Given the description of an element on the screen output the (x, y) to click on. 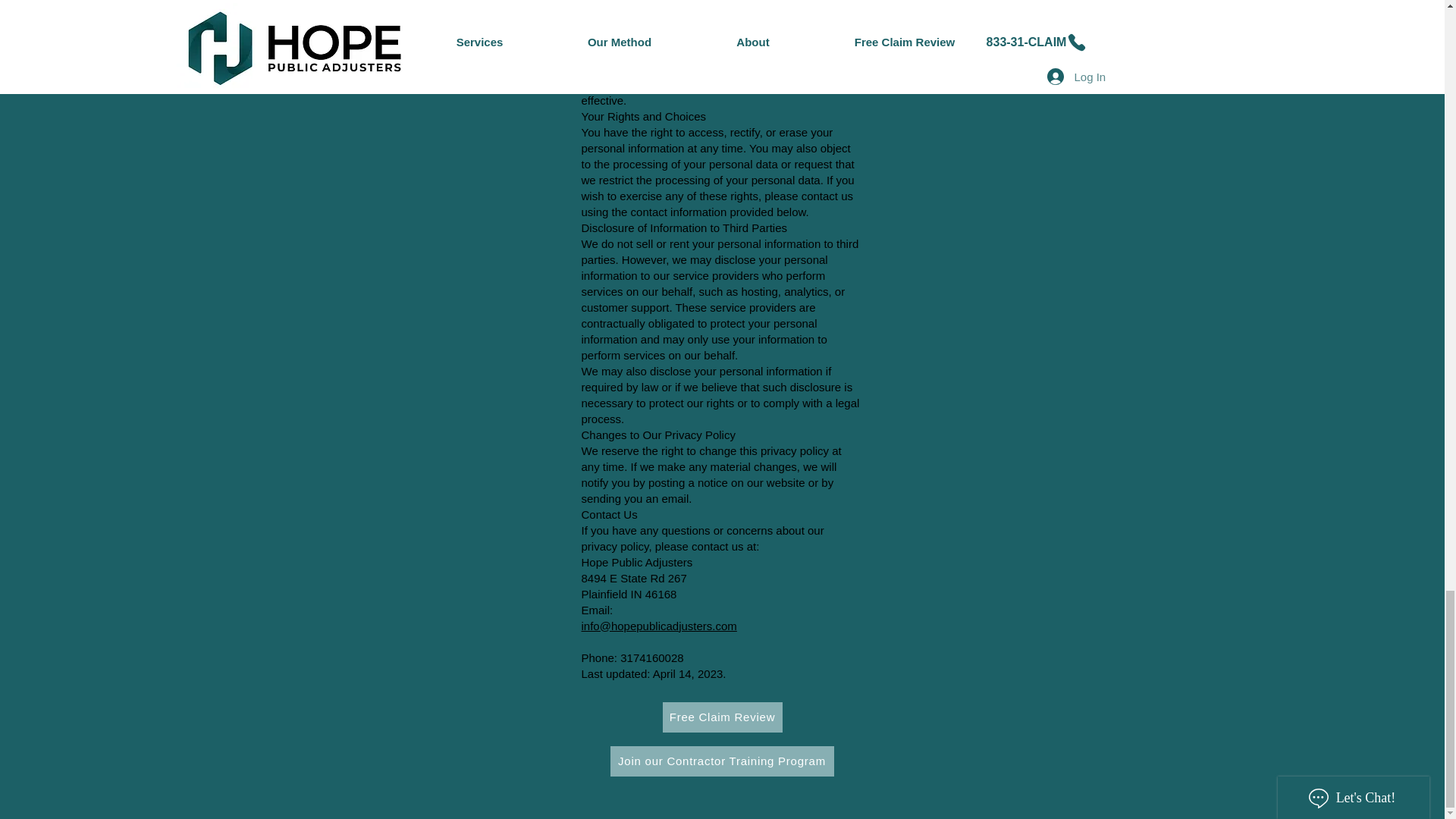
Free Claim Review (722, 716)
Join our Contractor Training Program (721, 760)
